Given the description of an element on the screen output the (x, y) to click on. 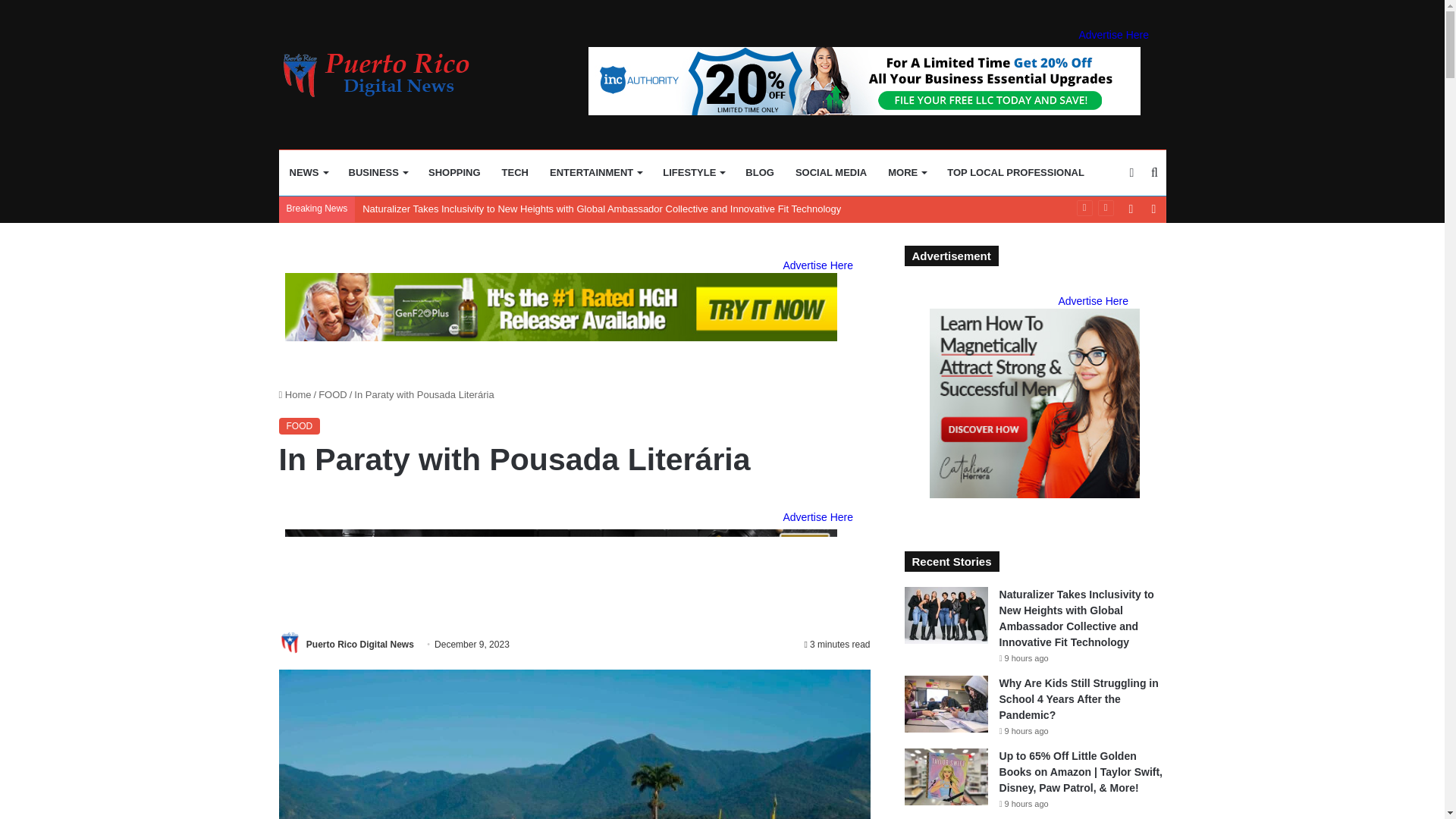
LIFESTYLE (693, 172)
Puertorico Digital News (383, 75)
TECH (515, 172)
FOOD (332, 394)
SHOPPING (454, 172)
SOCIAL MEDIA (830, 172)
Puerto Rico Digital News (359, 644)
ENTERTAINMENT (595, 172)
BLOG (759, 172)
Home (295, 394)
